Given the description of an element on the screen output the (x, y) to click on. 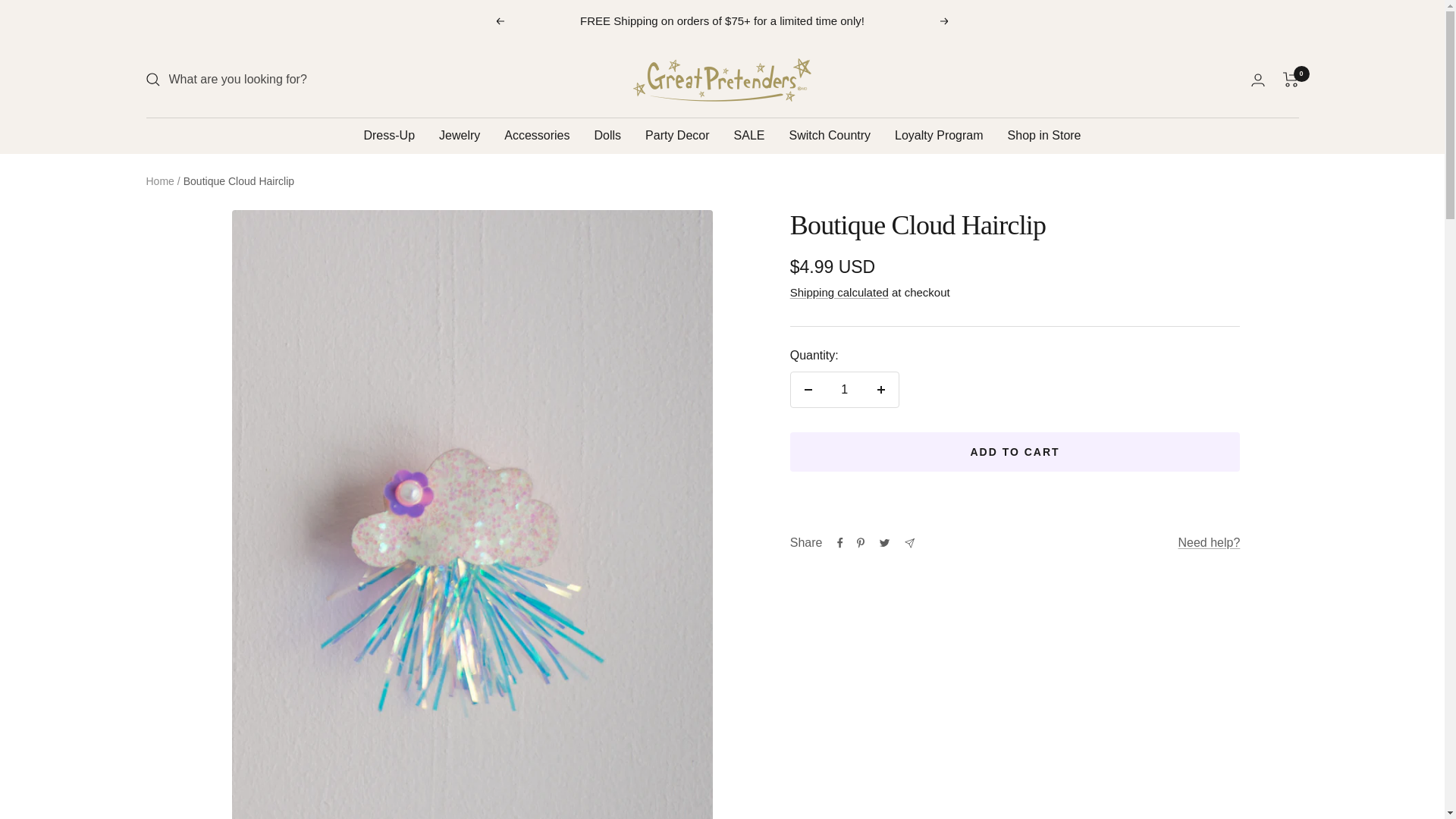
Accessories (536, 135)
SALE (749, 135)
Shop in Store (1044, 135)
Switch Country (829, 135)
1 (844, 389)
Next (944, 21)
Shipping calculated (839, 291)
Decrease quantity (807, 389)
Party Decor (677, 135)
0 (1290, 79)
